Given the description of an element on the screen output the (x, y) to click on. 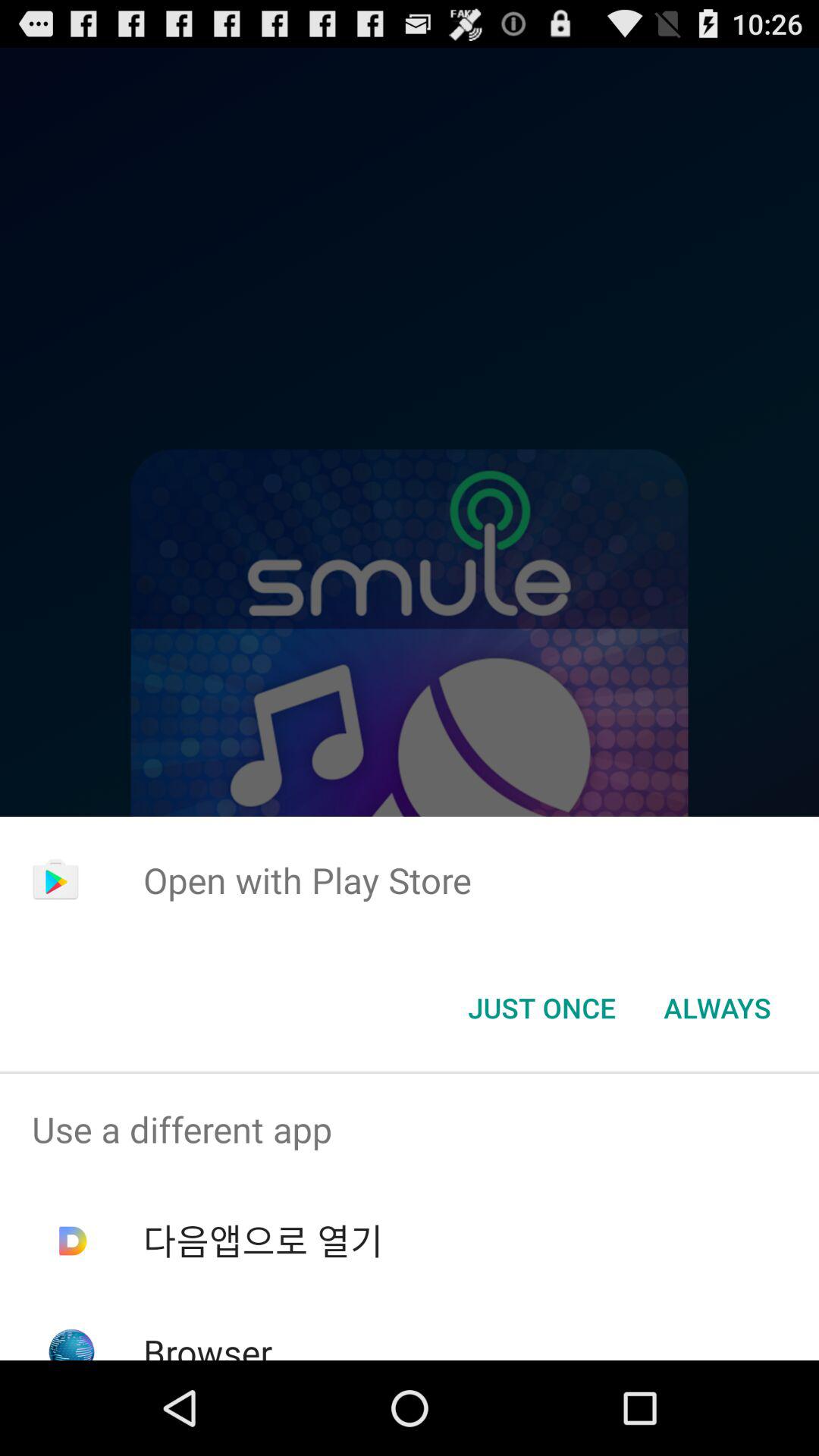
scroll until the browser item (207, 1344)
